Given the description of an element on the screen output the (x, y) to click on. 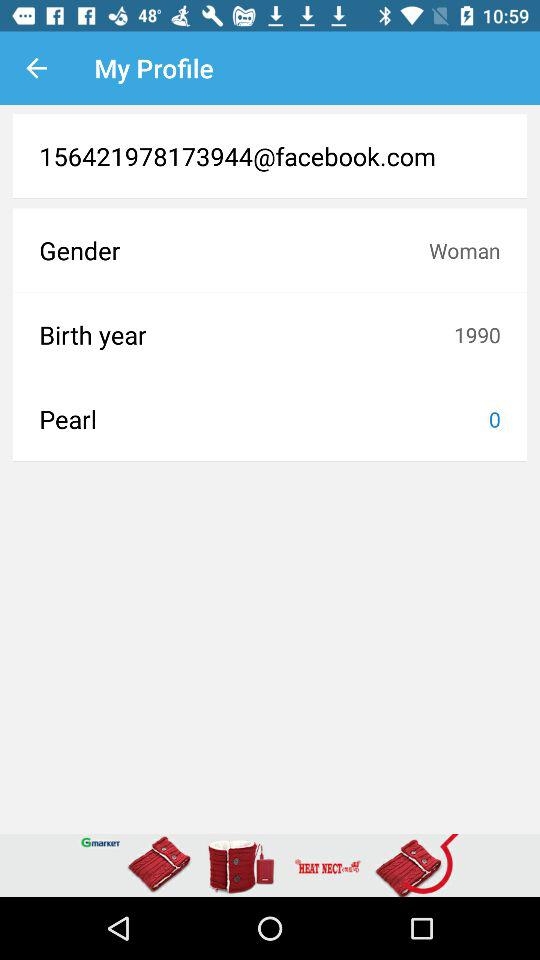
turn off the birth year item (246, 334)
